Given the description of an element on the screen output the (x, y) to click on. 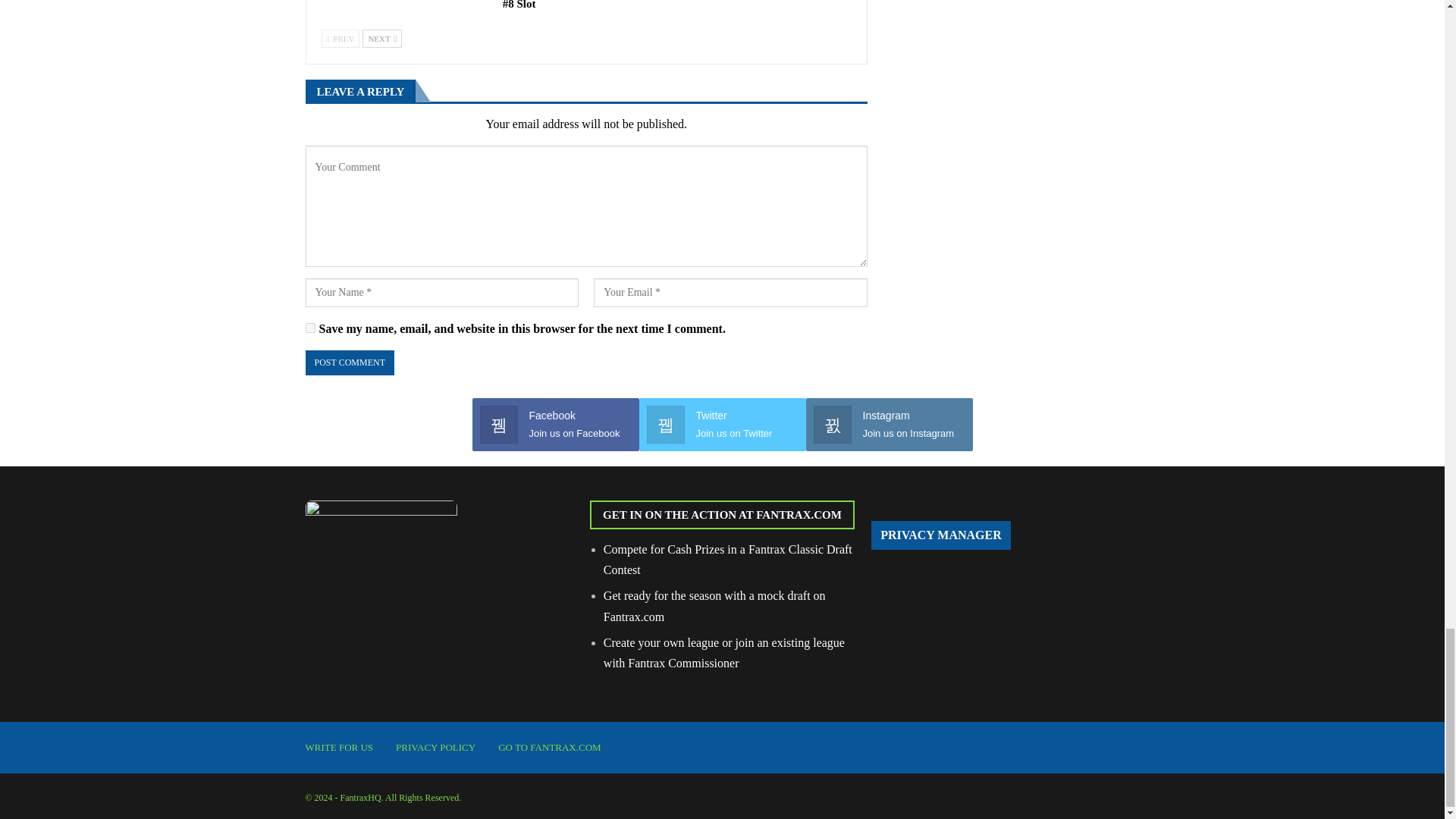
yes (309, 327)
Post Comment (348, 362)
